Given the description of an element on the screen output the (x, y) to click on. 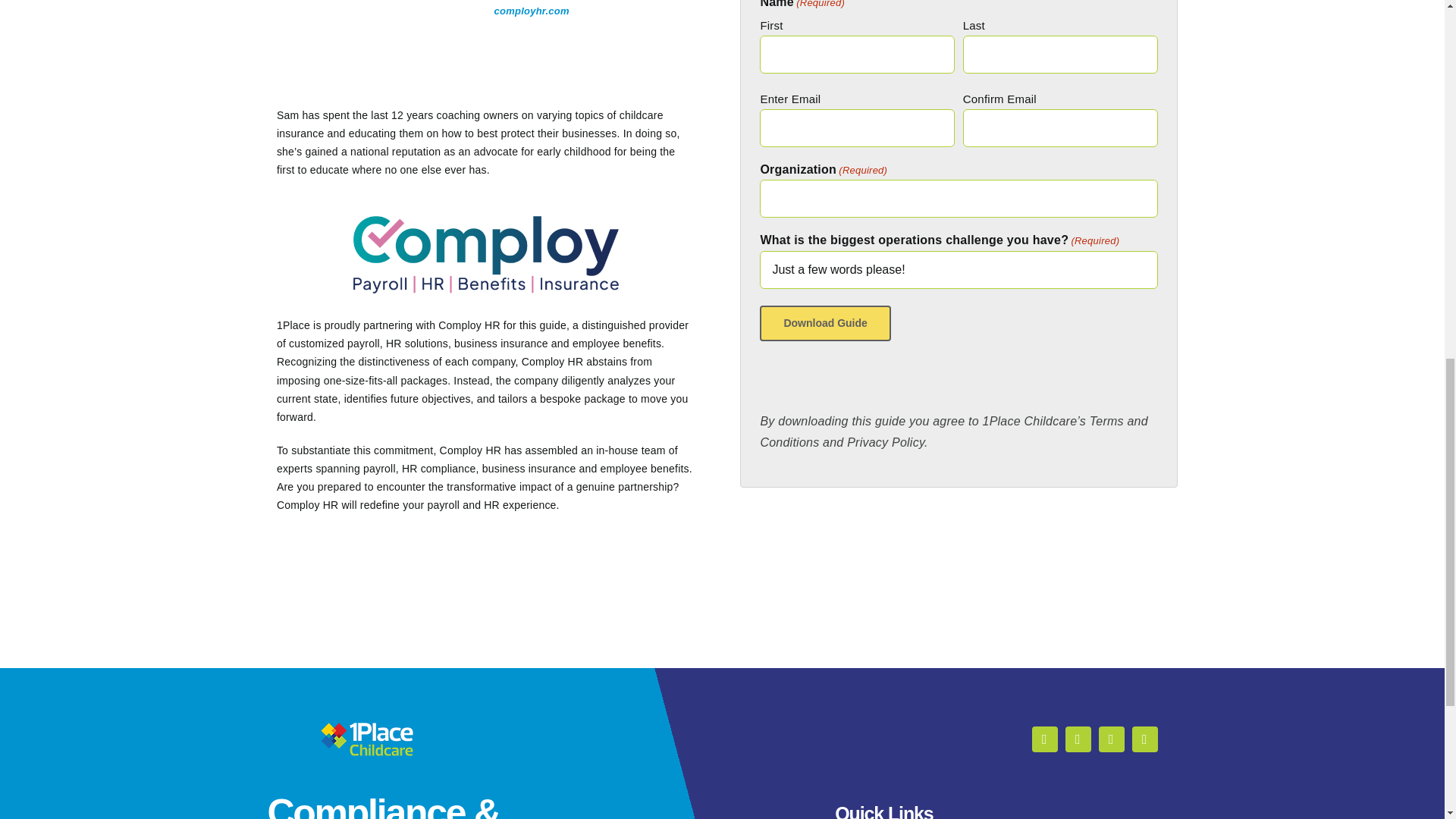
Download guide (824, 323)
1Place logo (366, 738)
Sam (376, 41)
comployhr.com (532, 10)
Download guide (824, 323)
